Given the description of an element on the screen output the (x, y) to click on. 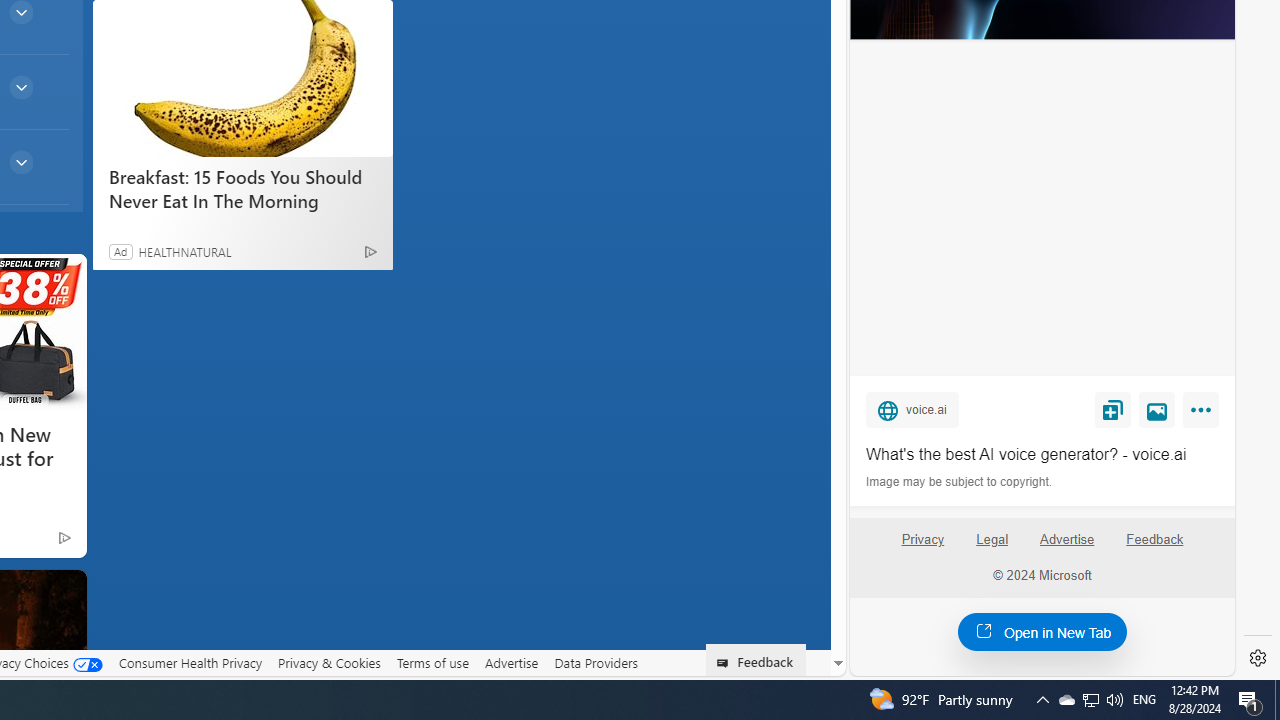
Terms of use (431, 662)
Ad Choice (370, 251)
common/thinArrow (20, 161)
HEALTHNATURAL (184, 251)
Image may be subject to copyright. (959, 481)
Save (1112, 409)
Privacy (922, 547)
More (1204, 413)
What's the best AI voice generator? - voice.ai (1042, 454)
View image (1157, 409)
voice.ai (912, 409)
Legal (992, 547)
Data Providers (595, 662)
